Given the description of an element on the screen output the (x, y) to click on. 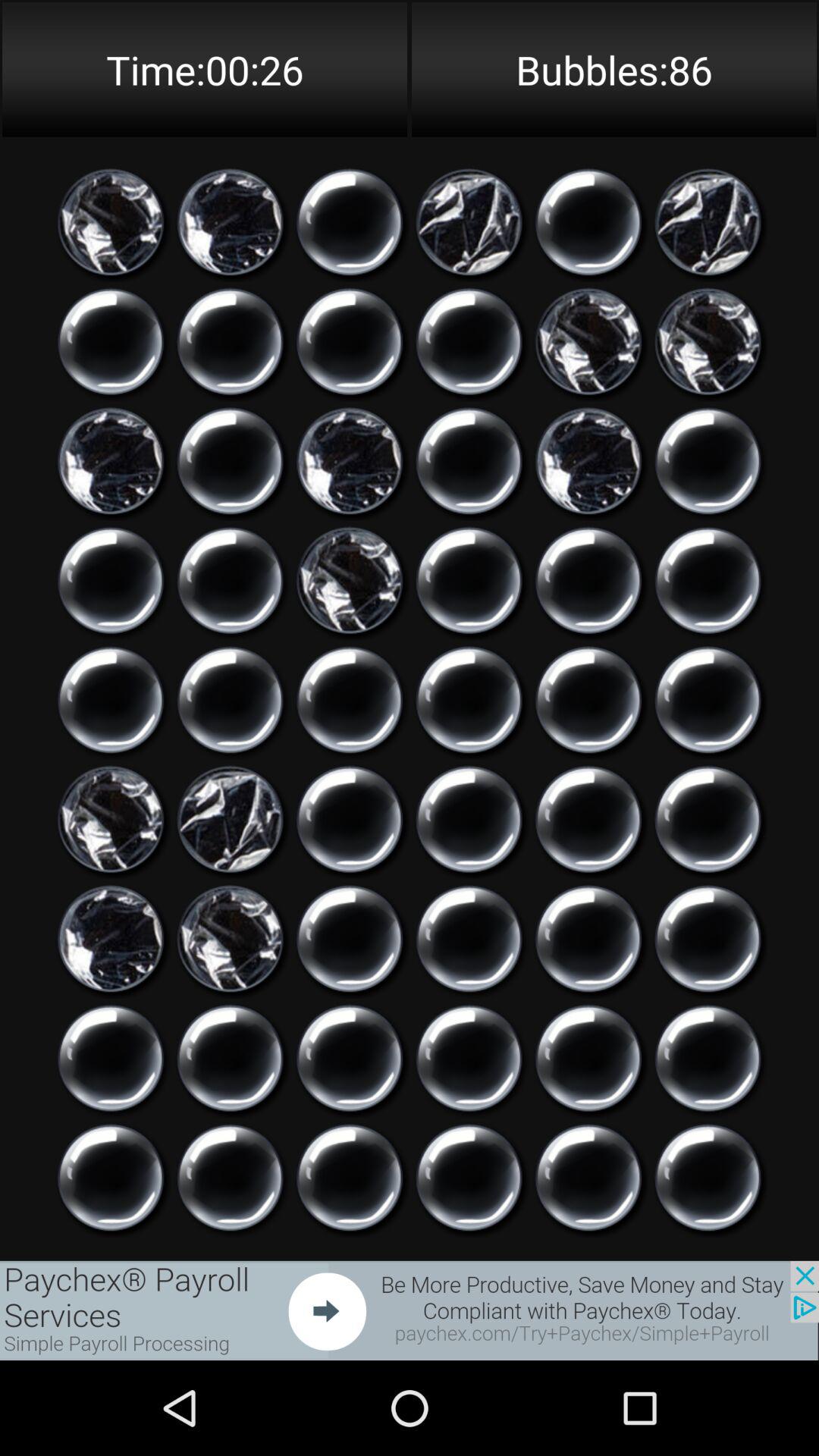
option (110, 341)
